Given the description of an element on the screen output the (x, y) to click on. 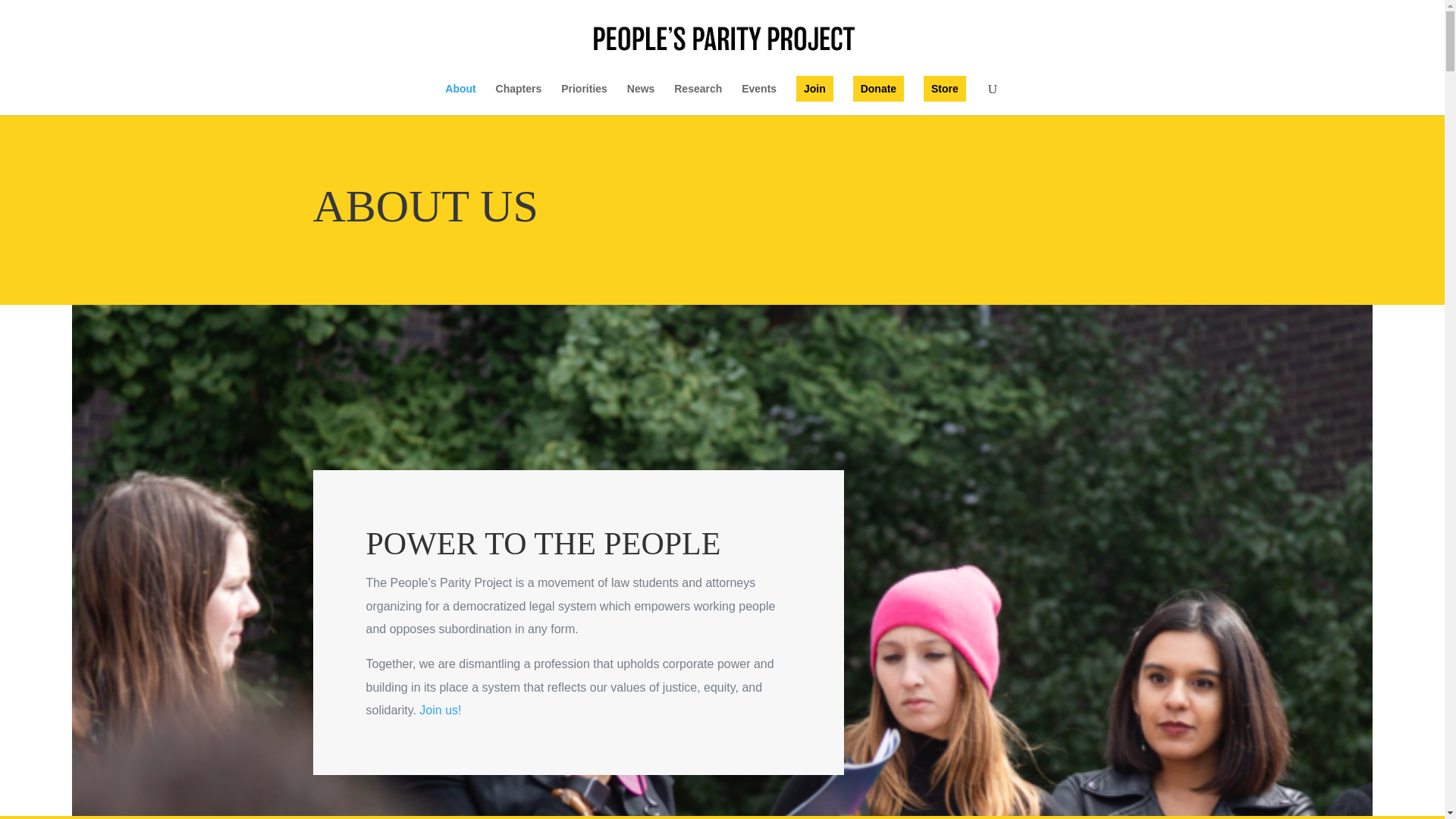
About (460, 99)
Store (944, 88)
Donate (878, 88)
Join us! (440, 709)
Priorities (583, 99)
Join (814, 88)
Events (758, 99)
Research (698, 99)
Chapters (518, 99)
